Given the description of an element on the screen output the (x, y) to click on. 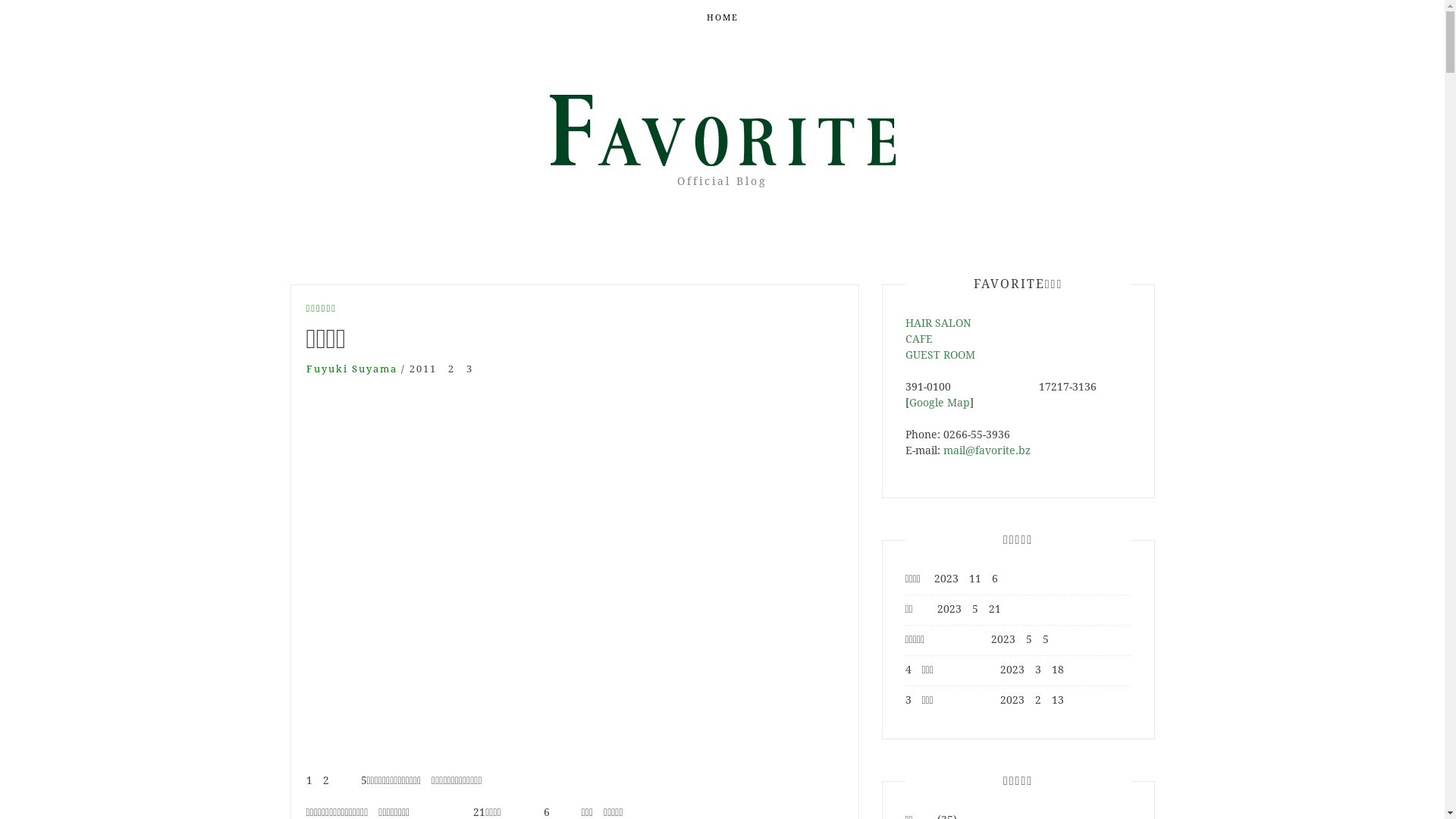
Google Map Element type: text (938, 402)
HOME Element type: text (722, 18)
CAFE Element type: text (918, 338)
mail@favorite.bz Element type: text (986, 450)
HAIR SALON Element type: text (938, 322)
GUEST ROOM Element type: text (940, 354)
Fuyuki Suyama Element type: text (351, 368)
